Given the description of an element on the screen output the (x, y) to click on. 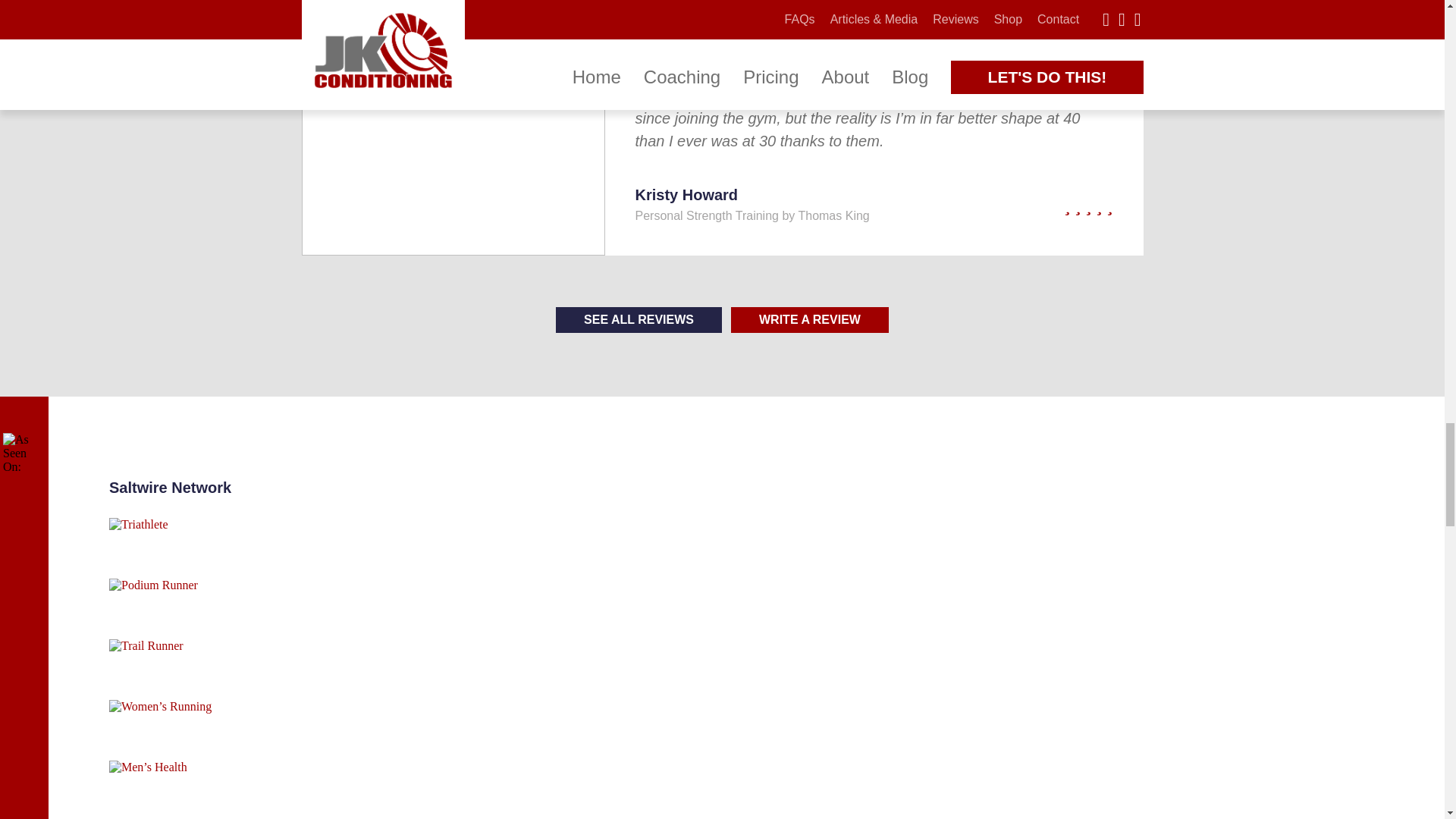
Personal Strength Training (706, 215)
SEE ALL REVIEWS (639, 319)
Thomas King (833, 215)
WRITE A REVIEW (809, 319)
5 out of 5 Stars (1040, 205)
